Given the description of an element on the screen output the (x, y) to click on. 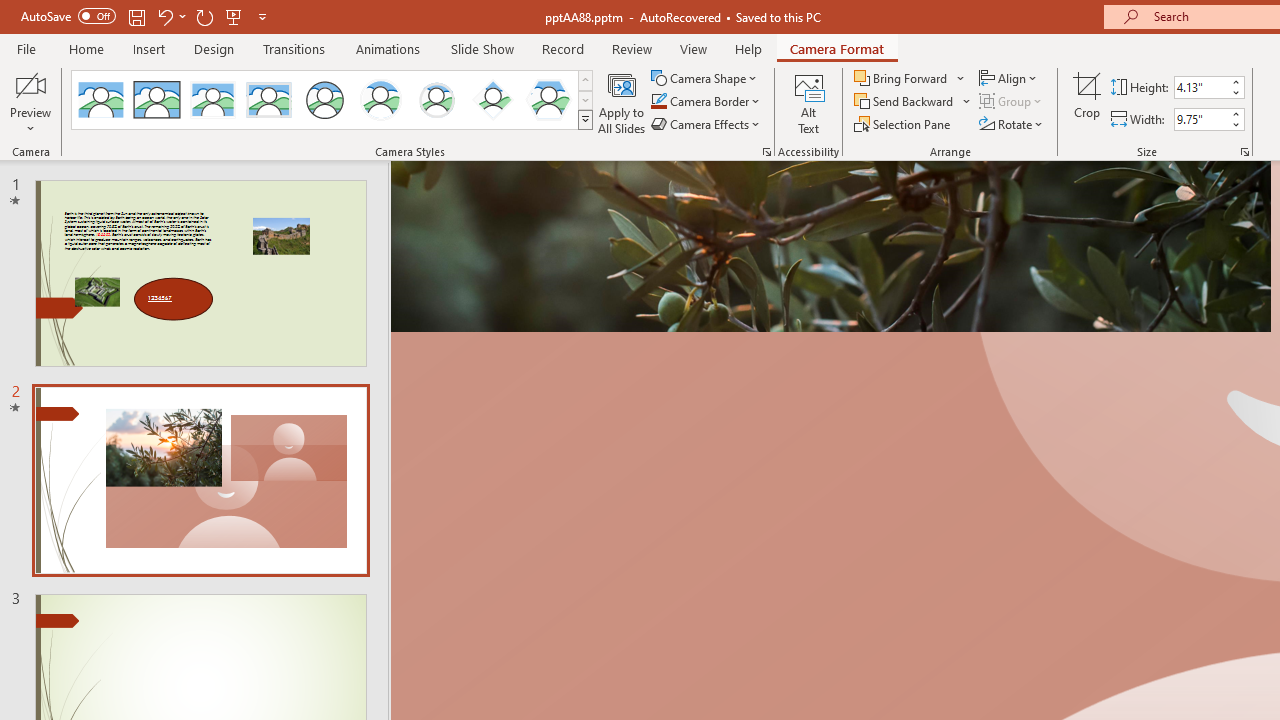
Cameo Width (1201, 119)
Send Backward (905, 101)
Close up of an olive branch on a sunset (830, 246)
Center Shadow Circle (381, 100)
Crop (1087, 102)
Selection Pane... (904, 124)
Less (1235, 124)
Camera Border (706, 101)
Soft Edge Rectangle (268, 100)
Center Shadow Diamond (492, 100)
Group (1012, 101)
